Given the description of an element on the screen output the (x, y) to click on. 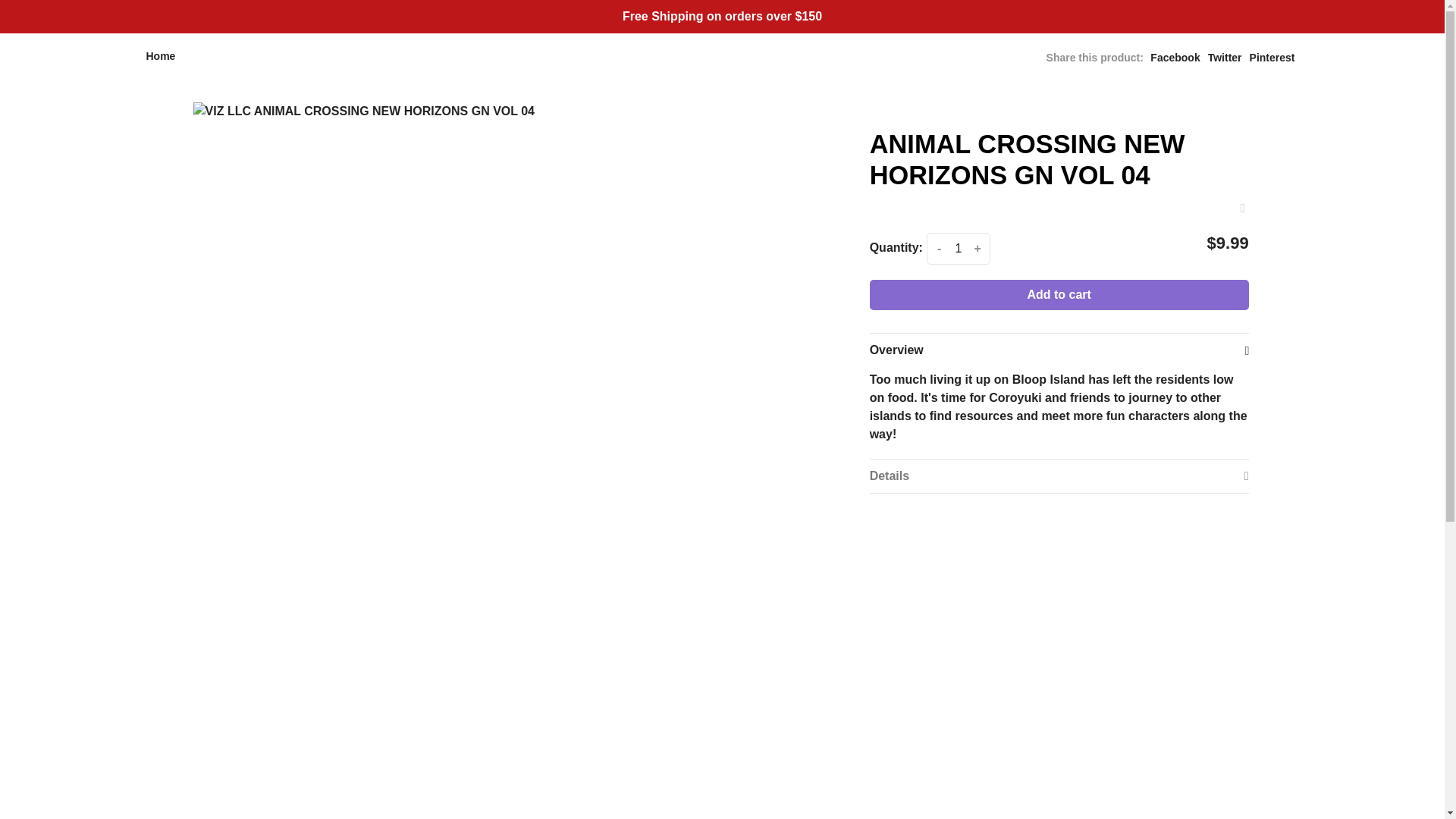
1 (958, 248)
